Given the description of an element on the screen output the (x, y) to click on. 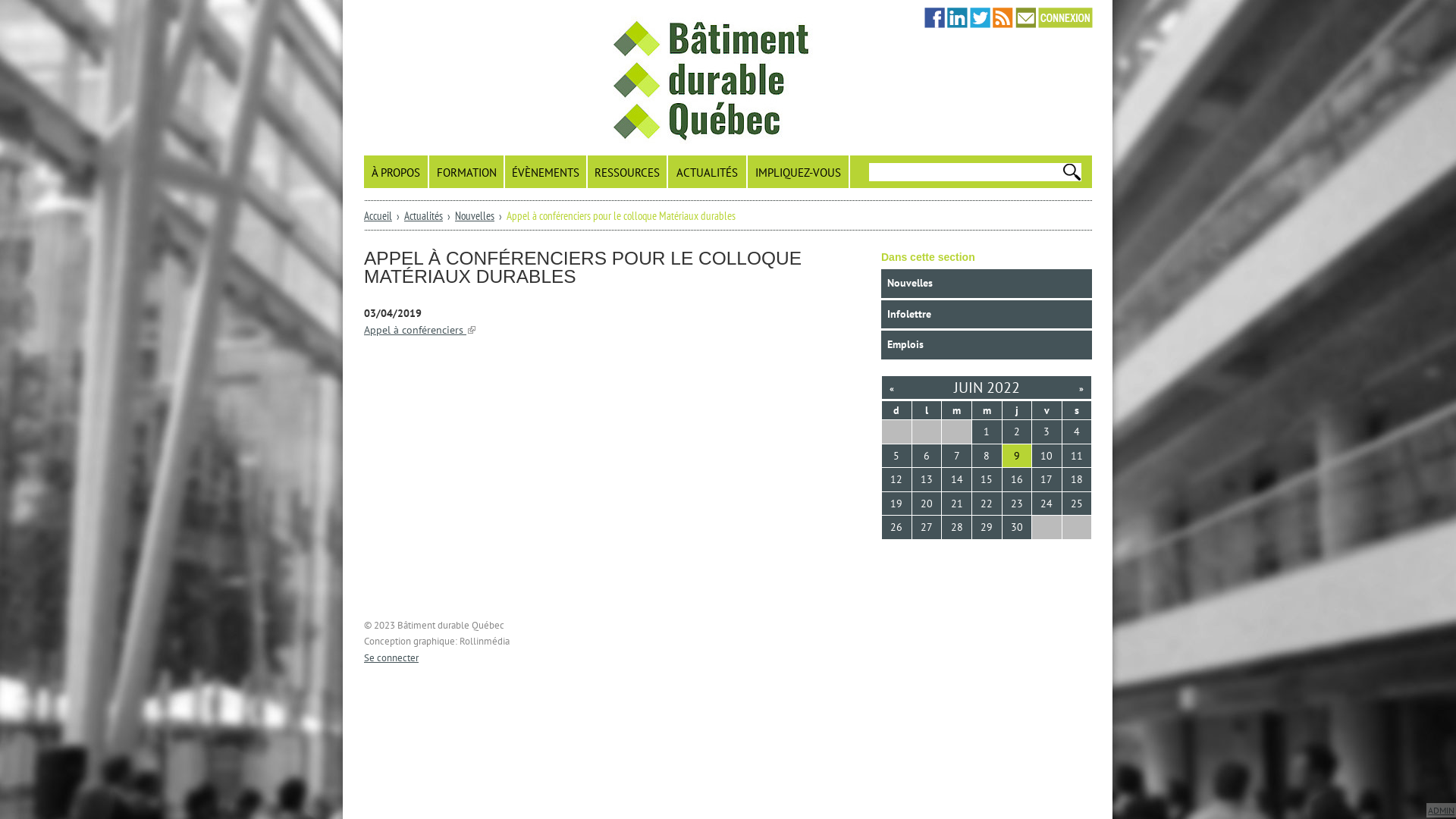
LinkedIn Element type: text (957, 17)
Nous contacter Element type: text (1025, 17)
Nouvelles Element type: text (986, 283)
FORMATION Element type: text (467, 171)
Emplois Element type: text (986, 344)
IMPLIQUEZ-VOUS Element type: text (798, 171)
Nouvelles Element type: text (474, 215)
Infolettre Element type: text (986, 314)
Connexion Element type: text (1065, 17)
Facebook Element type: text (934, 17)
Accueil Element type: text (378, 215)
RSS Element type: text (1002, 17)
Twitter Element type: text (979, 17)
JUIN 2022 Element type: text (986, 386)
Se connecter Element type: text (391, 657)
Accueil Element type: hover (645, 77)
Rechercher Element type: text (879, 187)
RESSOURCES Element type: text (627, 171)
